Given the description of an element on the screen output the (x, y) to click on. 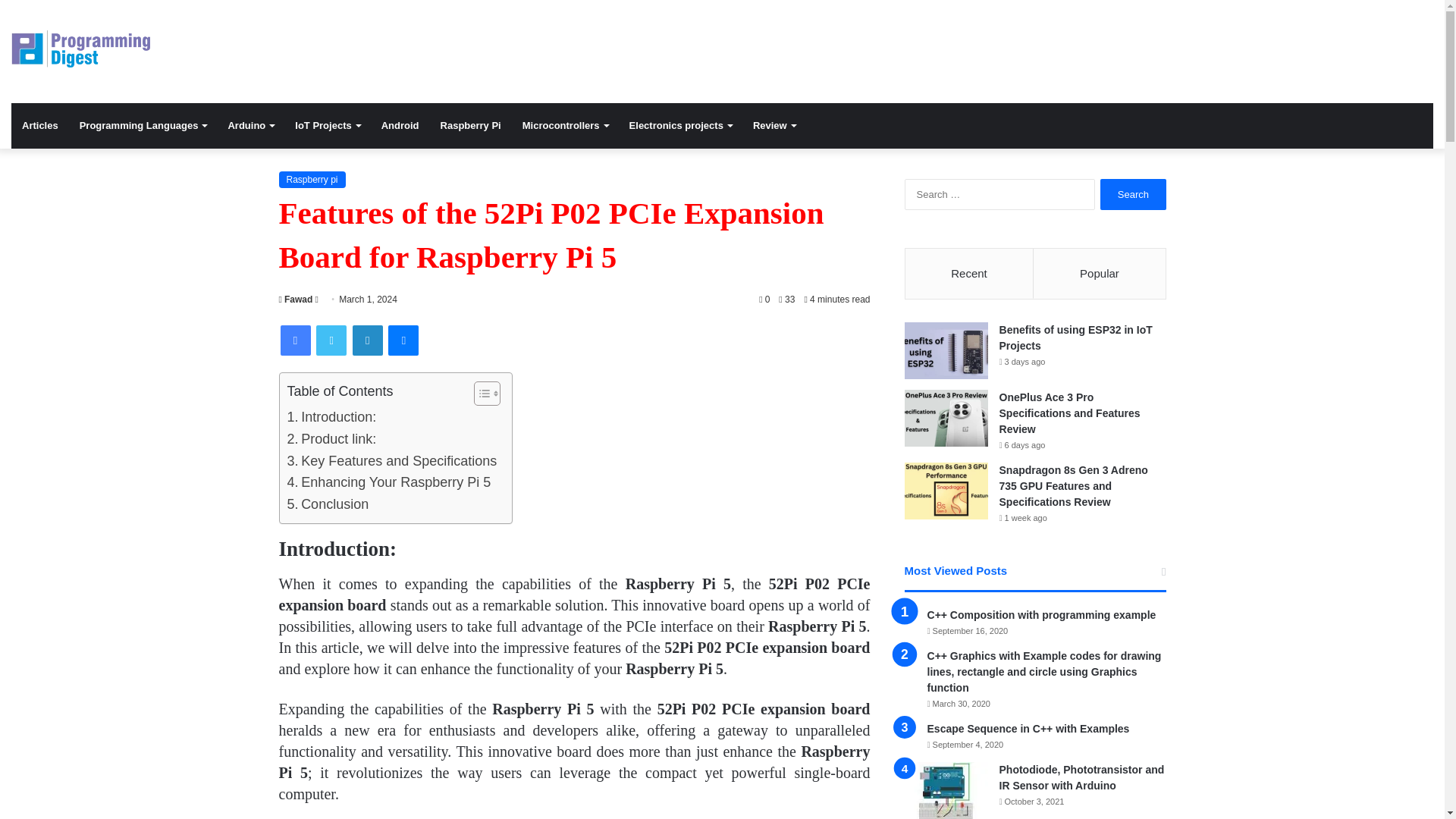
LinkedIn (367, 340)
Fawad (296, 299)
Facebook (296, 340)
Introduction: (330, 417)
Review (774, 125)
Raspberry pi (312, 179)
Advertisement (963, 49)
Arduino (249, 125)
Enhancing Your Raspberry Pi 5 (388, 482)
Product link: (330, 439)
Raspberry Pi (470, 125)
Messenger (403, 340)
Fawad (296, 299)
Key Features and Specifications (391, 461)
Programming Digest (80, 48)
